Given the description of an element on the screen output the (x, y) to click on. 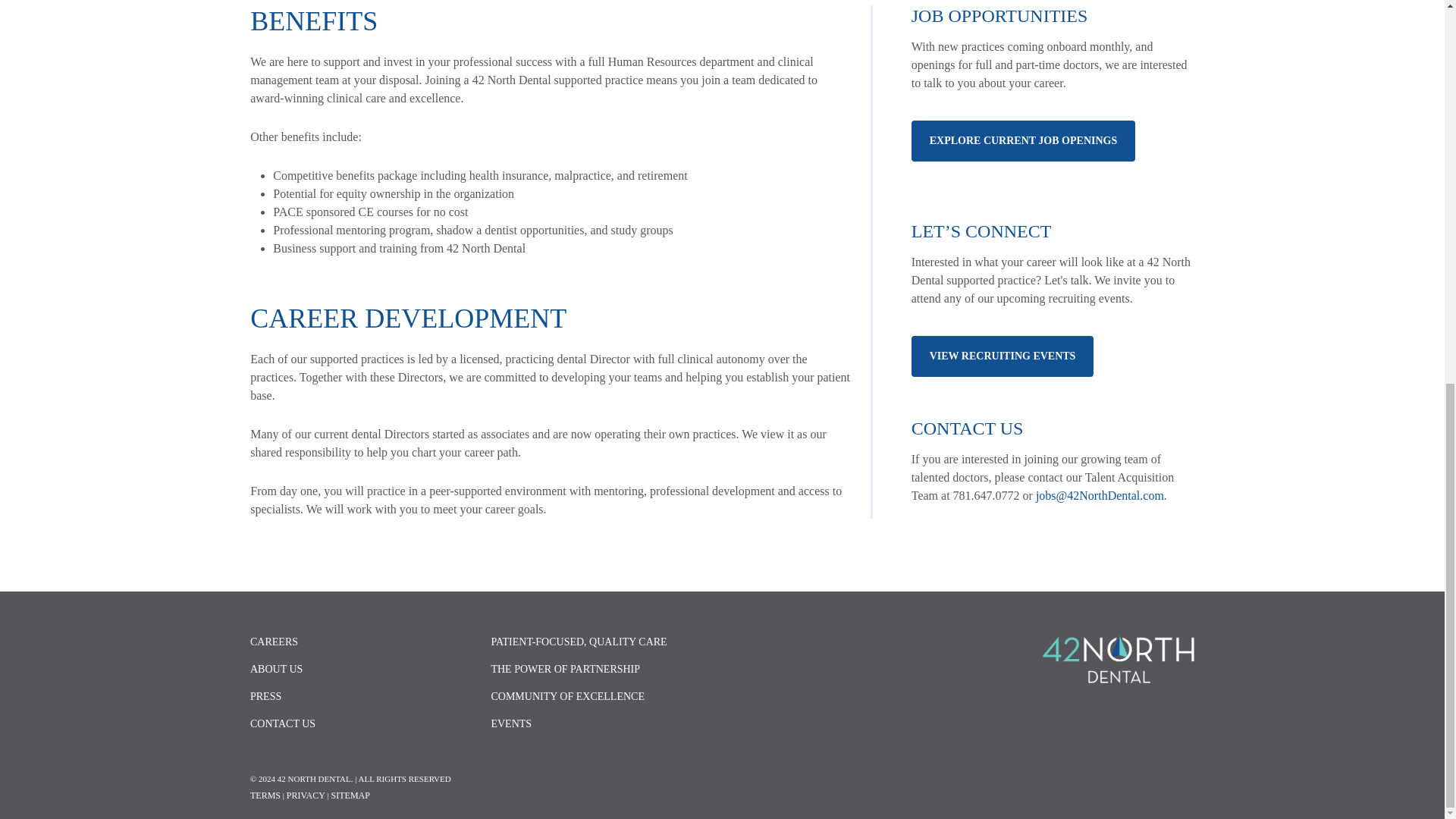
PRIVACY (305, 795)
CAREERS (360, 644)
EVENTS (601, 723)
ABOUT US (360, 669)
THE POWER OF PARTNERSHIP (601, 669)
VIEW RECRUITING EVENTS (1002, 355)
SITEMAP (350, 795)
CONTACT US (360, 723)
PRESS (360, 696)
COMMUNITY OF EXCELLENCE (601, 696)
EXPLORE CURRENT JOB OPENINGS (1023, 140)
PATIENT-FOCUSED, QUALITY CARE (601, 644)
TERMS (265, 795)
